Given the description of an element on the screen output the (x, y) to click on. 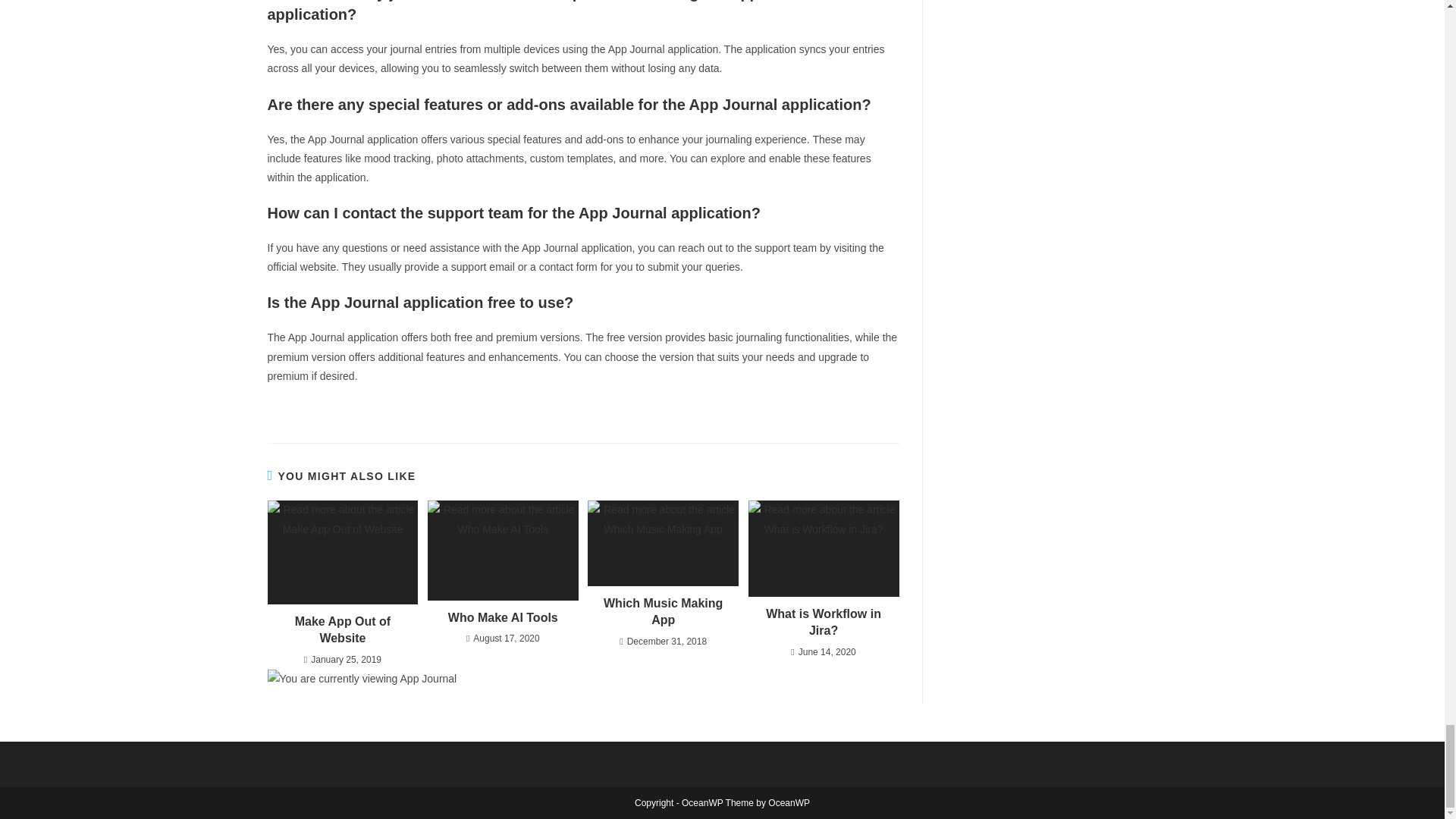
What is Workflow in Jira? (823, 622)
Make App Out of Website (342, 630)
Who Make AI Tools (502, 617)
Which Music Making App (662, 612)
